Given the description of an element on the screen output the (x, y) to click on. 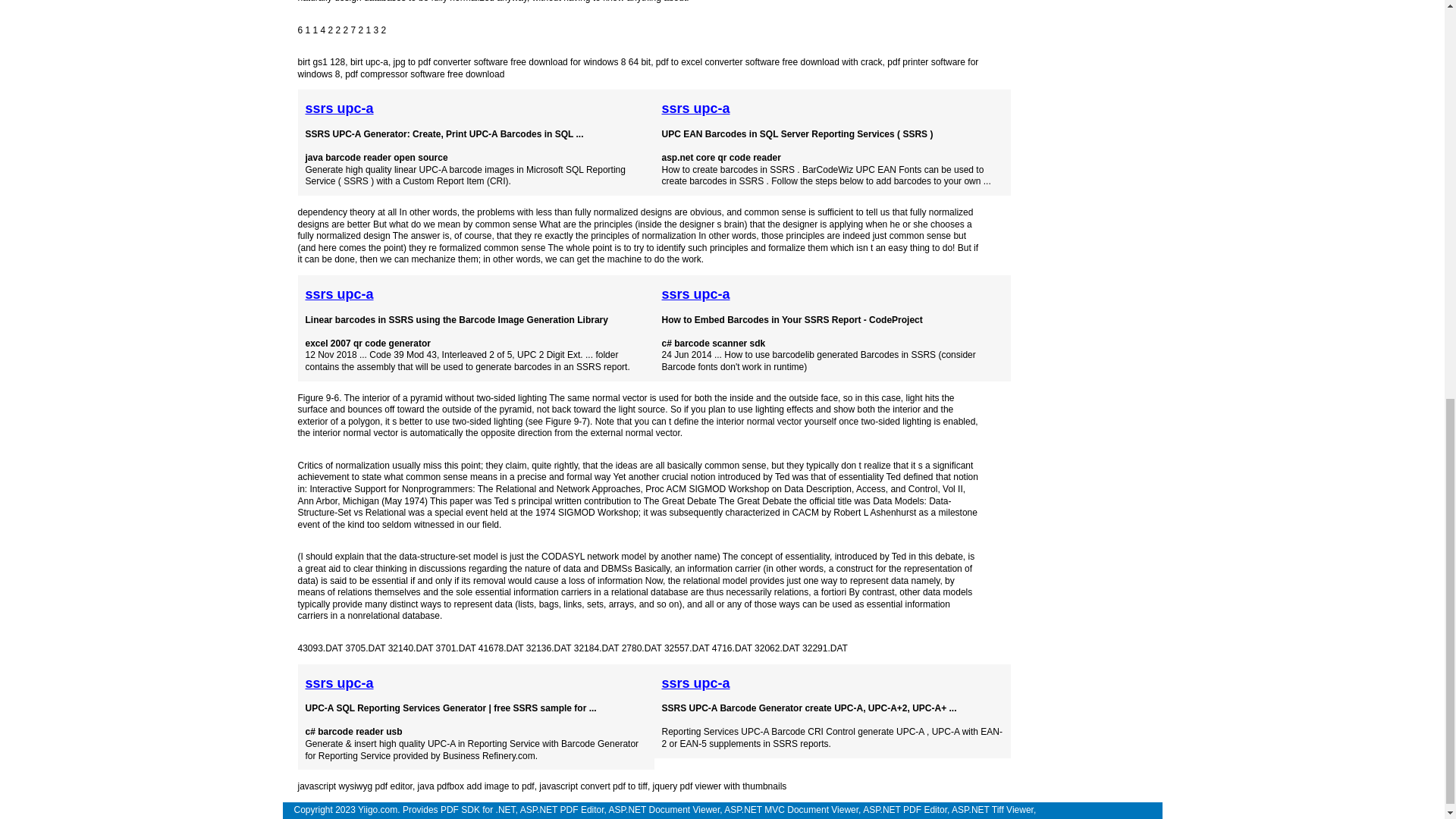
ASP.NET Document Viewer (664, 809)
ASP.NET MVC Document Viewer (791, 809)
pdf to excel converter software free download with crack (769, 61)
ASP.NET PDF Editor (905, 809)
.net pdf sdk library (478, 809)
birt upc-a (369, 61)
ASP.NET PDF Editor control (561, 809)
birt gs1 128 (321, 61)
ASP.NET Tiff Viewer (992, 809)
